Given the description of an element on the screen output the (x, y) to click on. 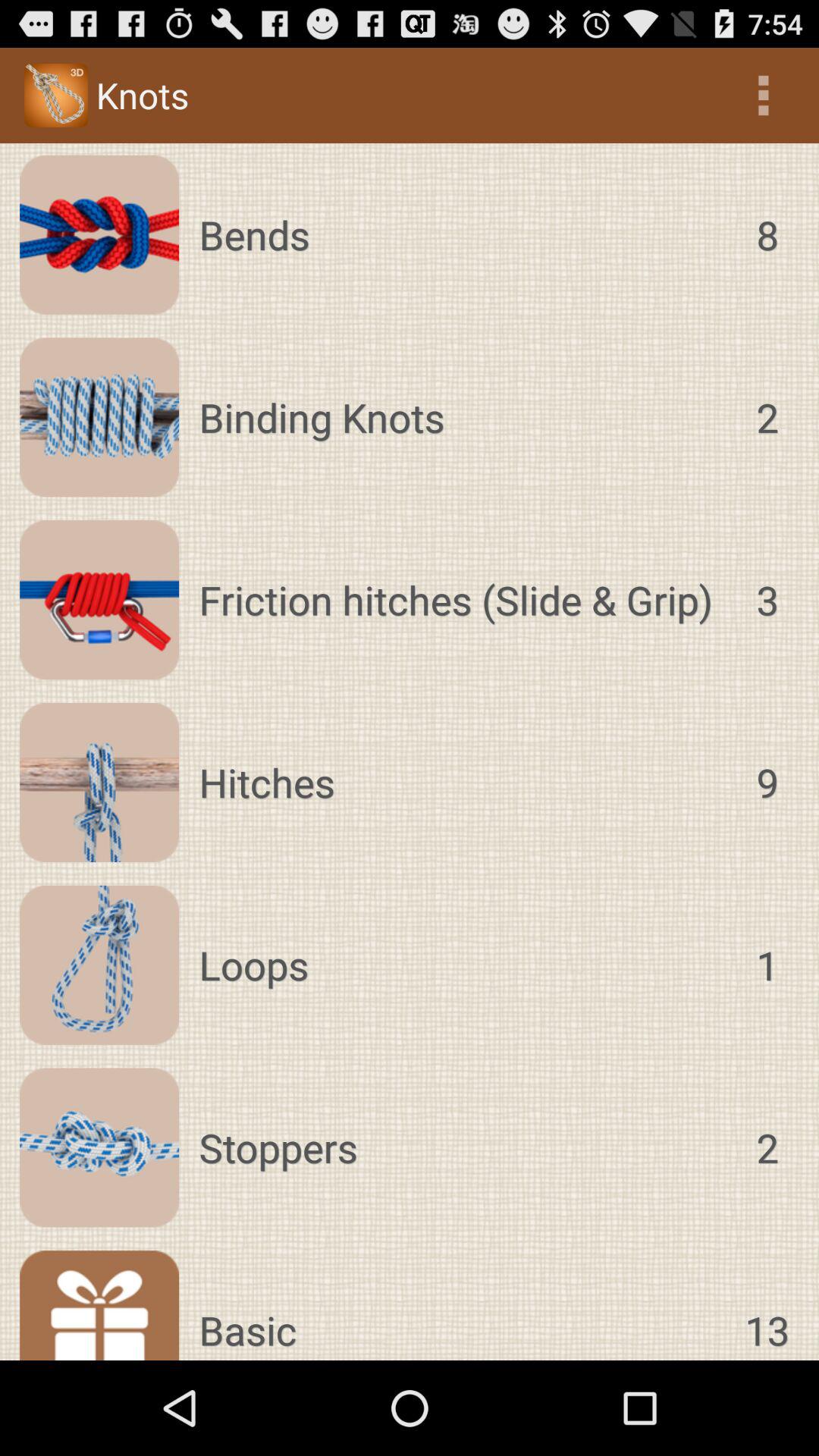
click 3 icon (767, 599)
